Given the description of an element on the screen output the (x, y) to click on. 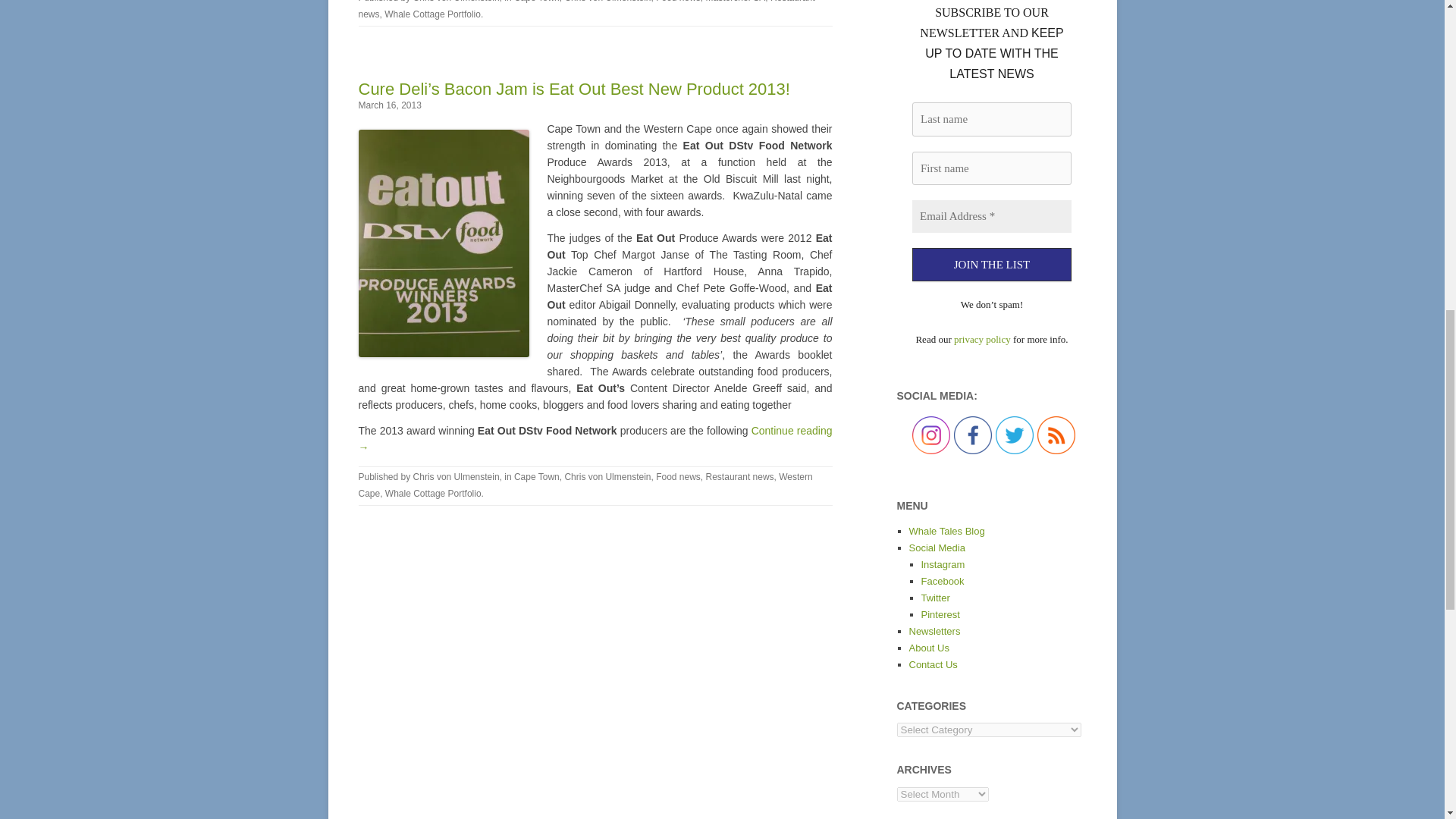
View all posts by Chris von Ulmenstein (456, 476)
7:44 am (389, 104)
JOIN THE LIST (990, 264)
View all posts by Chris von Ulmenstein (456, 1)
Whale Cottage Portfolio (432, 14)
Food news (678, 1)
Chris von Ulmenstein (607, 476)
Food news (678, 476)
Email Address (990, 215)
Chris von Ulmenstein (607, 1)
